Given the description of an element on the screen output the (x, y) to click on. 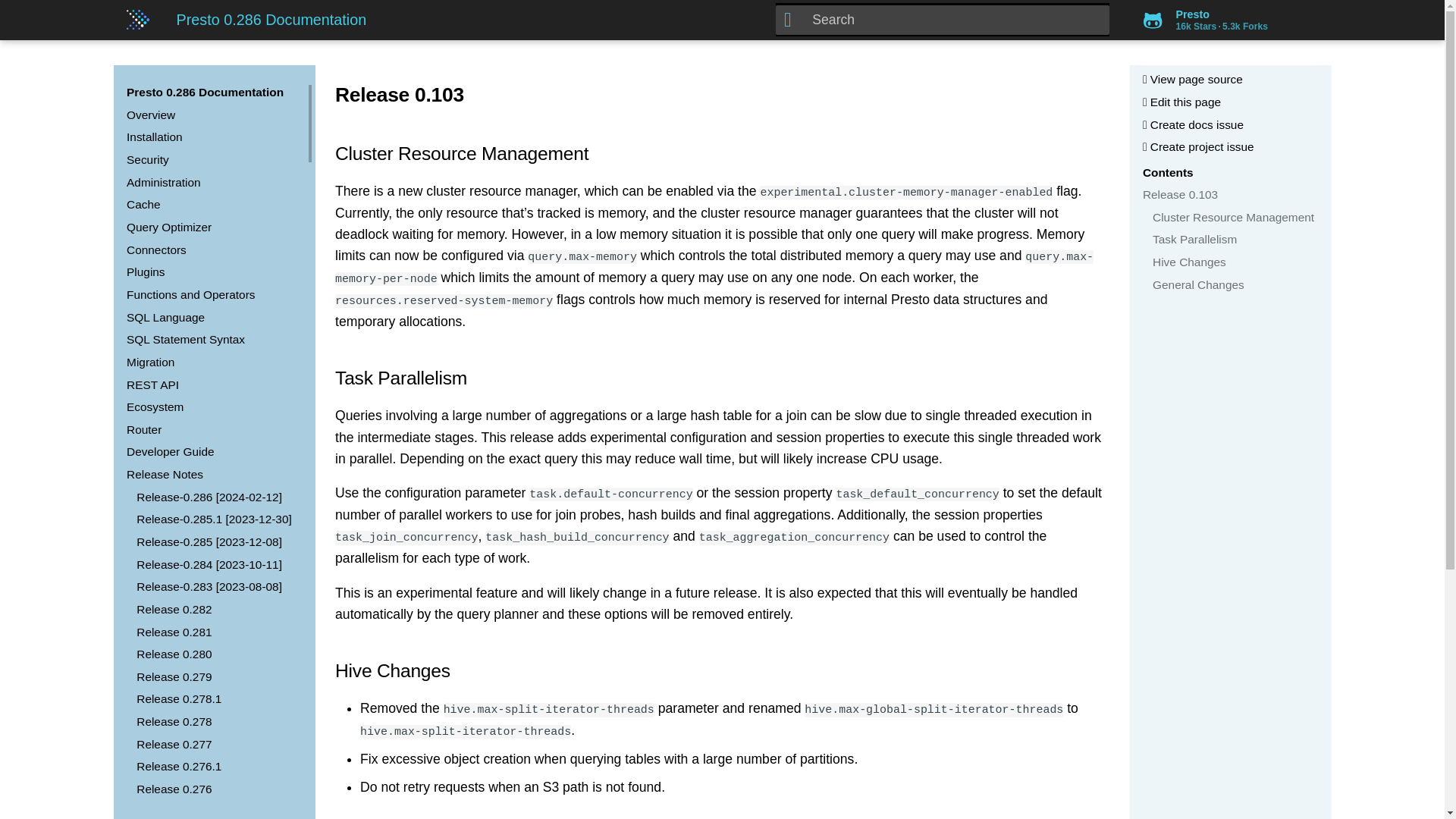
Installation (212, 136)
Release 0.277 (217, 744)
Presto 0.286 Documentation (204, 91)
Ecosystem (212, 406)
Release 0.278.1 (217, 698)
Release Notes (212, 474)
Release 0.279 (217, 676)
Release 0.278 (217, 721)
Plugins (212, 272)
Cache (212, 204)
